Given the description of an element on the screen output the (x, y) to click on. 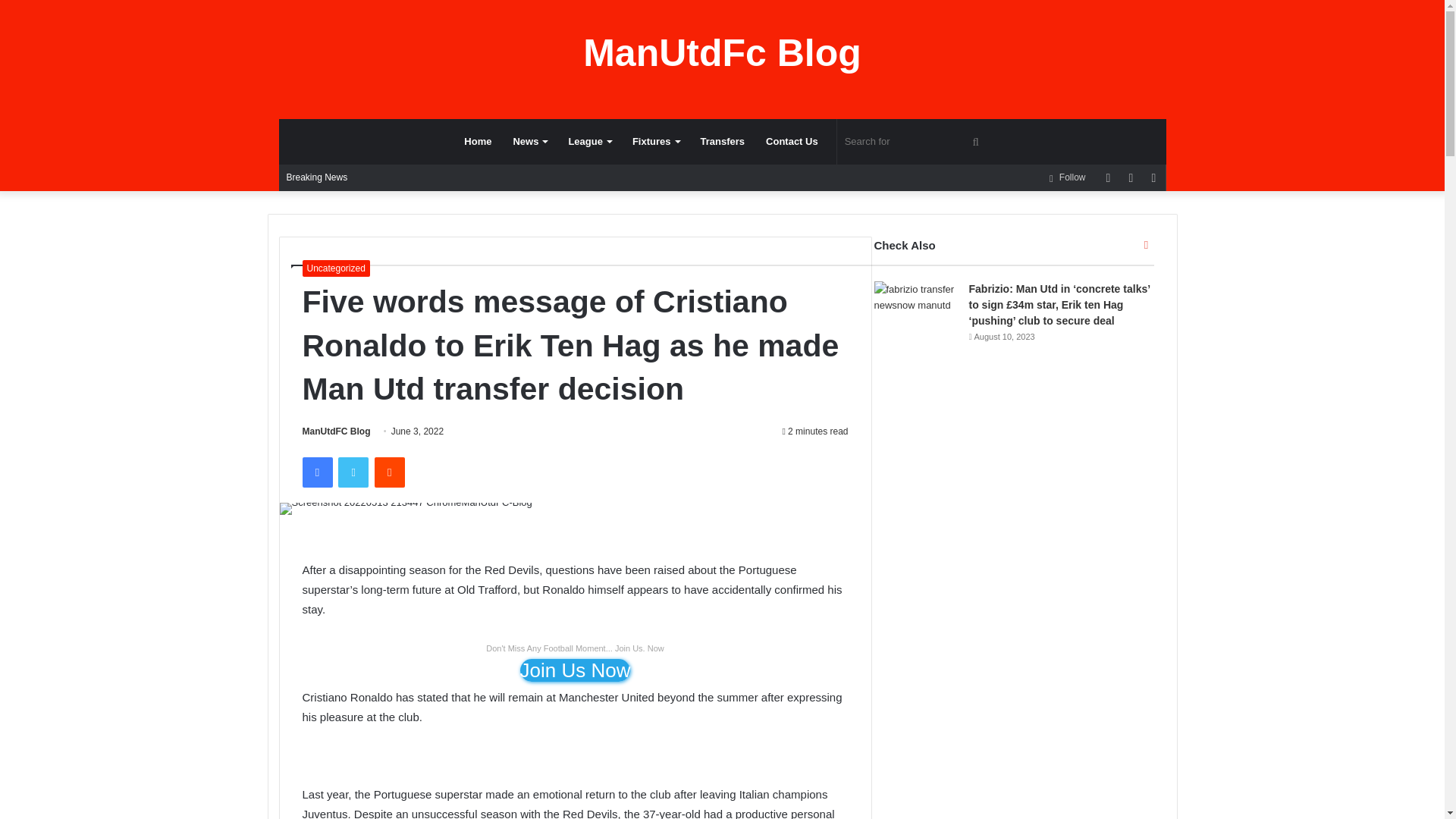
Transfers (722, 141)
News (529, 141)
Join Us Now (574, 670)
Search for (914, 141)
ManUtdFc Blog (722, 53)
Reddit (389, 472)
Facebook (316, 472)
Follow (1067, 177)
Fixtures (655, 141)
Contact Us (791, 141)
ManUtdFc Blog (722, 53)
ManUtdFC Blog (335, 430)
Twitter (352, 472)
League (589, 141)
Home (477, 141)
